Given the description of an element on the screen output the (x, y) to click on. 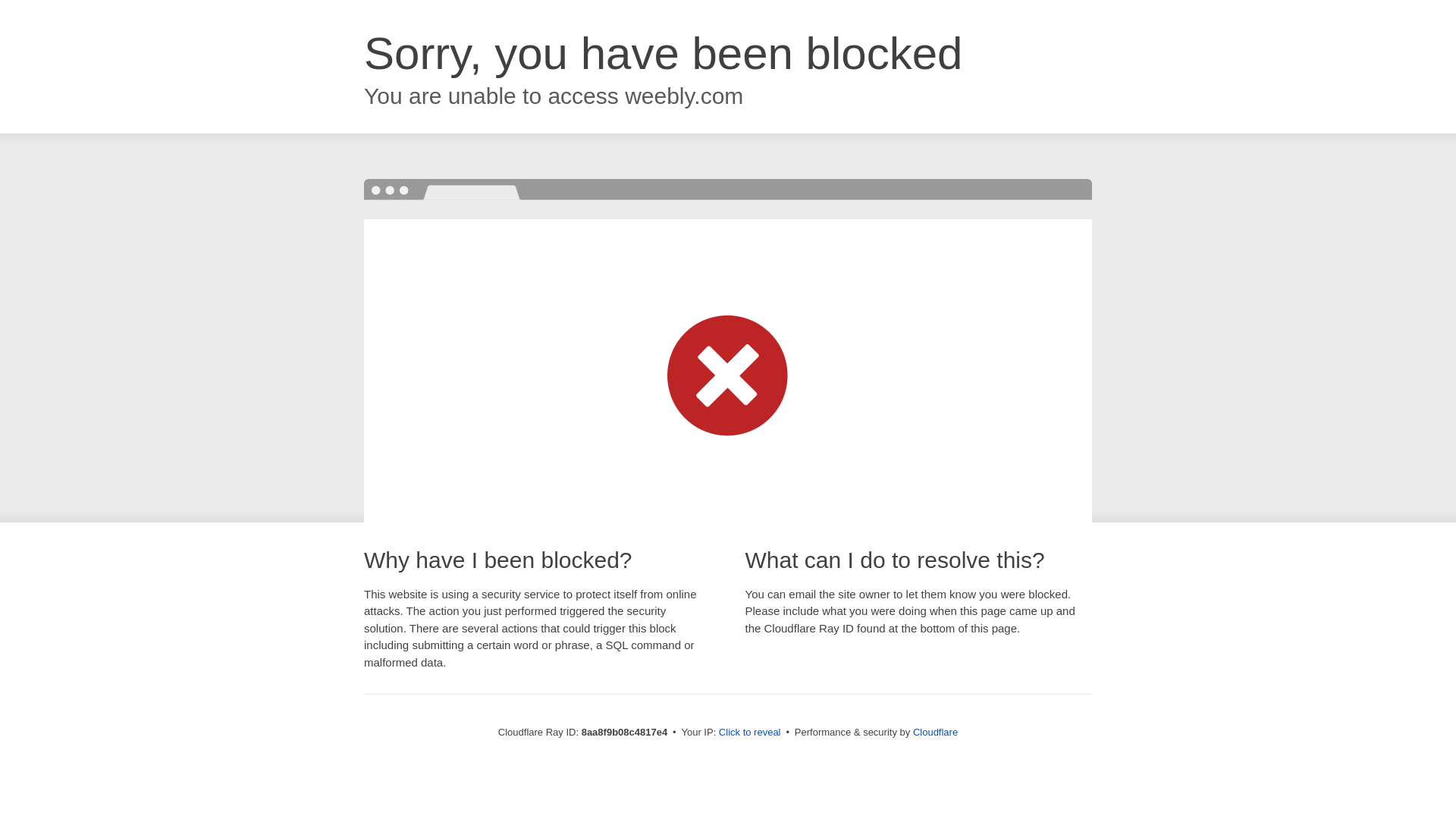
Cloudflare (935, 731)
Click to reveal (749, 732)
